Given the description of an element on the screen output the (x, y) to click on. 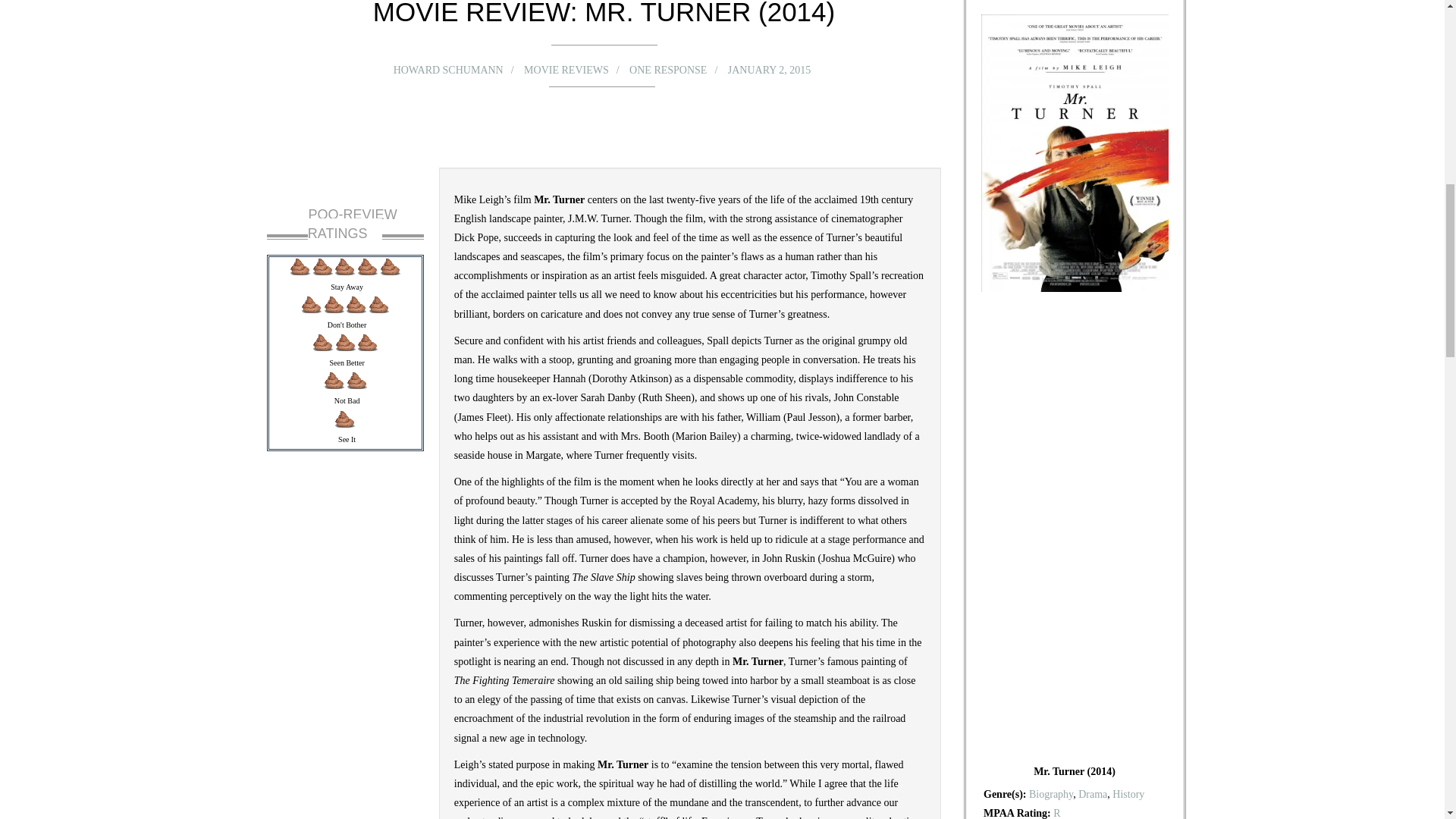
ONE RESPONSE (665, 69)
HOWARD SCHUMANN (464, 68)
History (1128, 794)
MOVIE REVIEWS (569, 68)
Biography (1051, 794)
Drama (1092, 794)
